Given the description of an element on the screen output the (x, y) to click on. 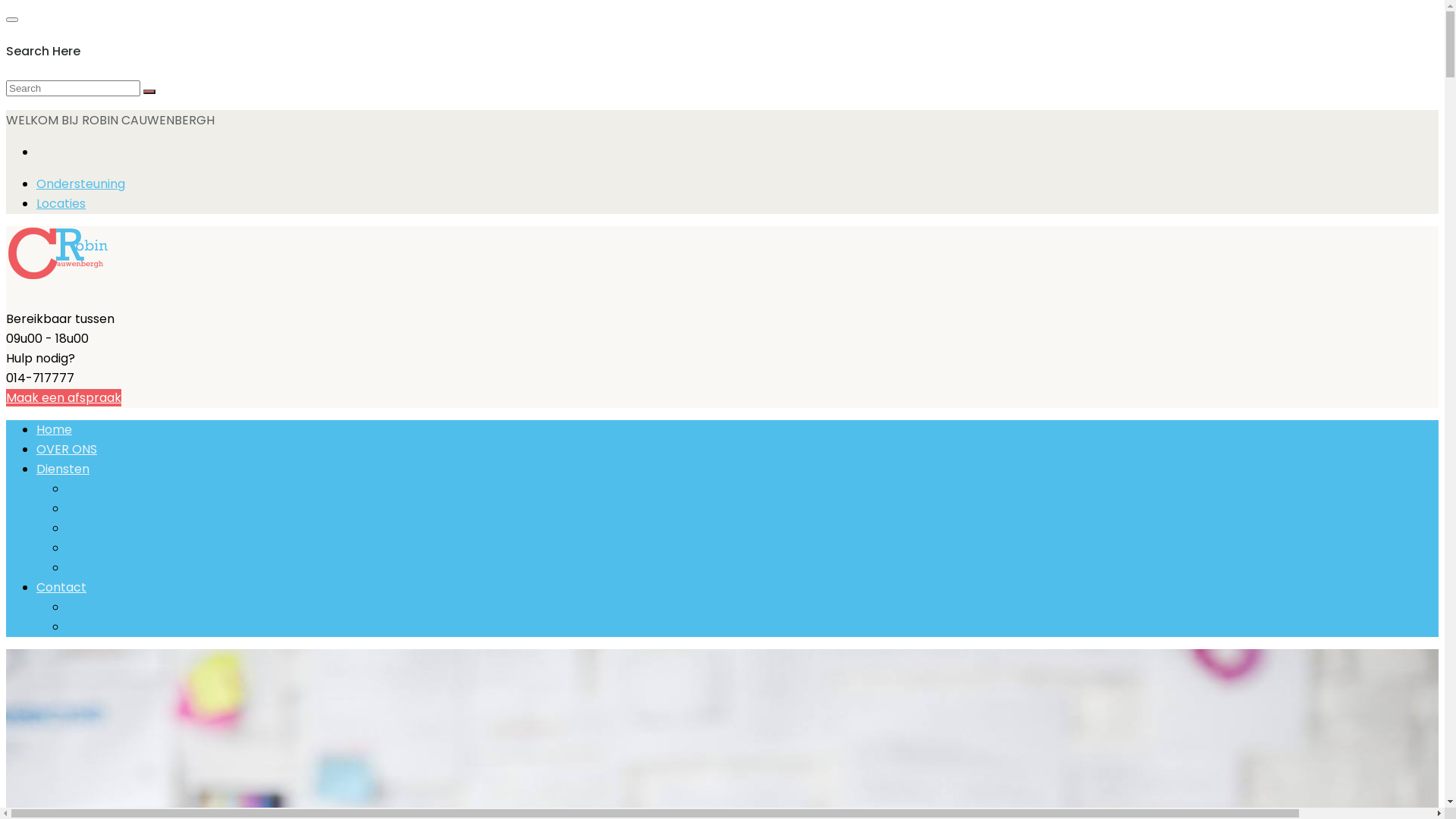
Maak een afspraak Element type: text (124, 626)
OVER ONS Element type: text (66, 449)
PC & MAC Computers Element type: text (131, 488)
Ondersteuning Element type: text (80, 183)
Diensten Element type: text (62, 468)
Beveiliging Element type: text (97, 547)
Servermonitoring Element type: text (118, 508)
Maak een afspraak Element type: text (63, 397)
Contacteer mij Element type: text (111, 606)
Contact Element type: text (61, 587)
Laptop Macbook Repair Element type: text (138, 567)
Locaties Element type: text (60, 203)
Home Element type: text (54, 429)
